Given the description of an element on the screen output the (x, y) to click on. 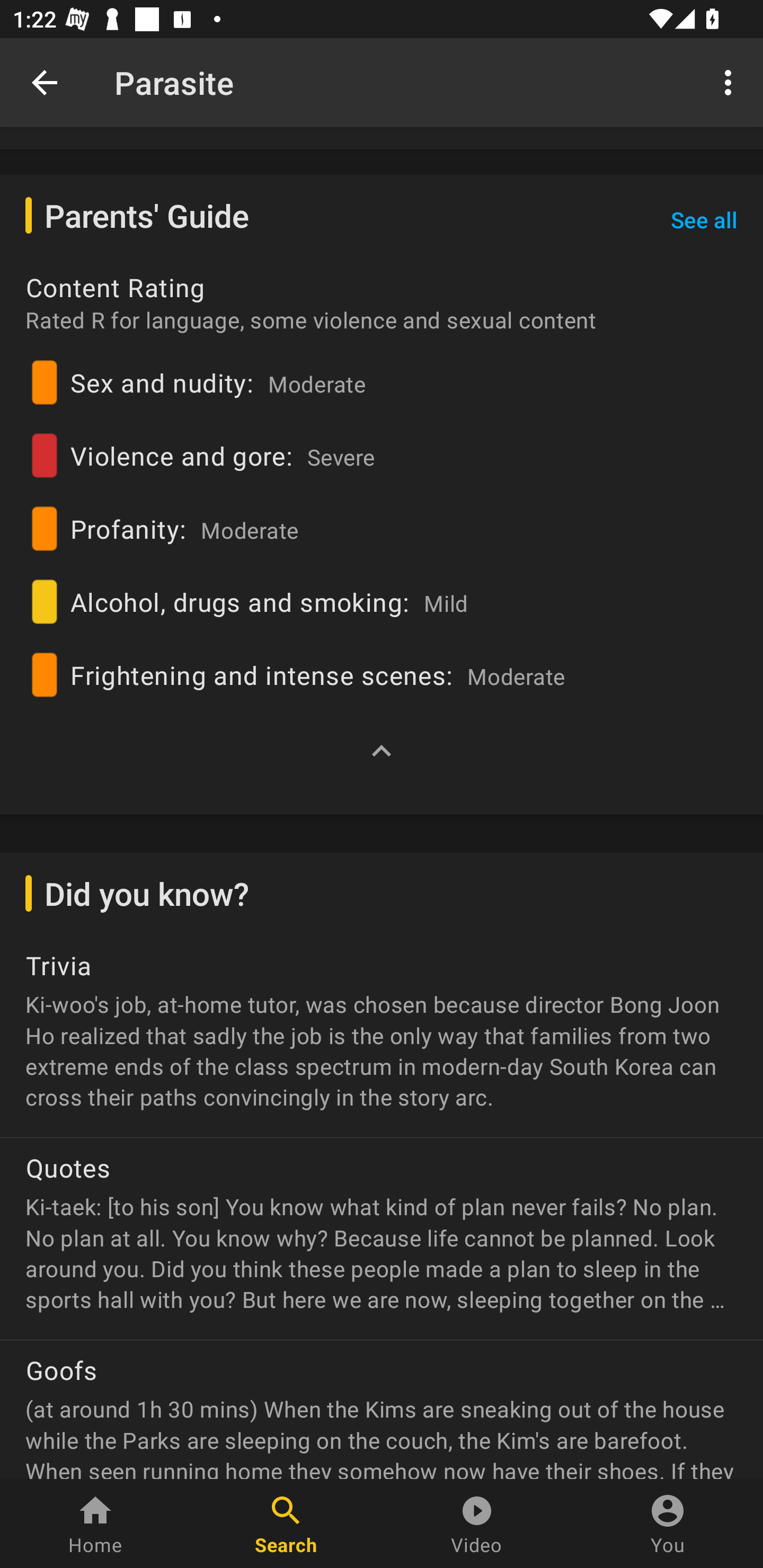
More options (731, 81)
See all See all Parents' Guide (703, 219)
Home (95, 1523)
Video (476, 1523)
You (667, 1523)
